Given the description of an element on the screen output the (x, y) to click on. 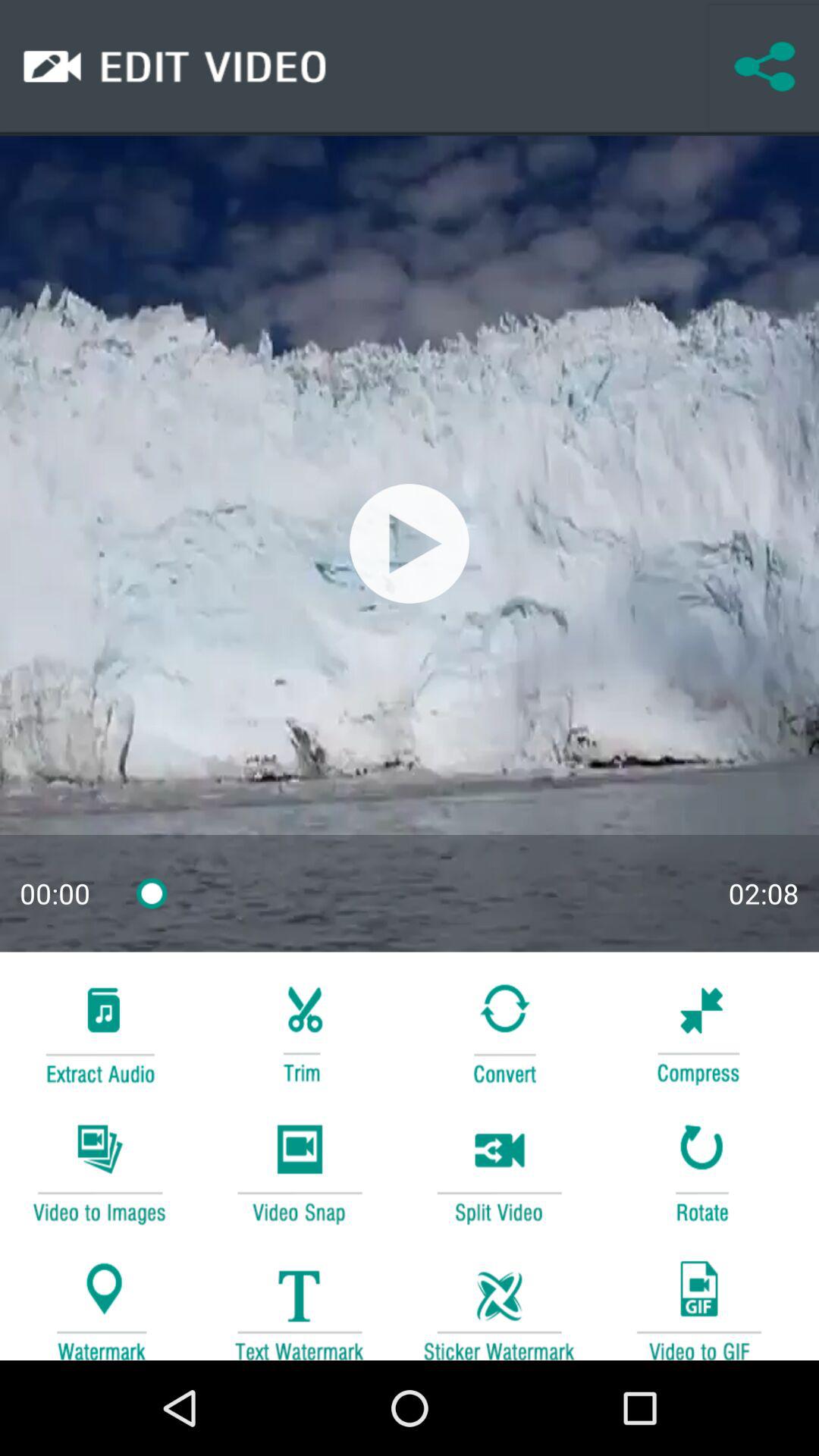
play the option (409, 543)
